Given the description of an element on the screen output the (x, y) to click on. 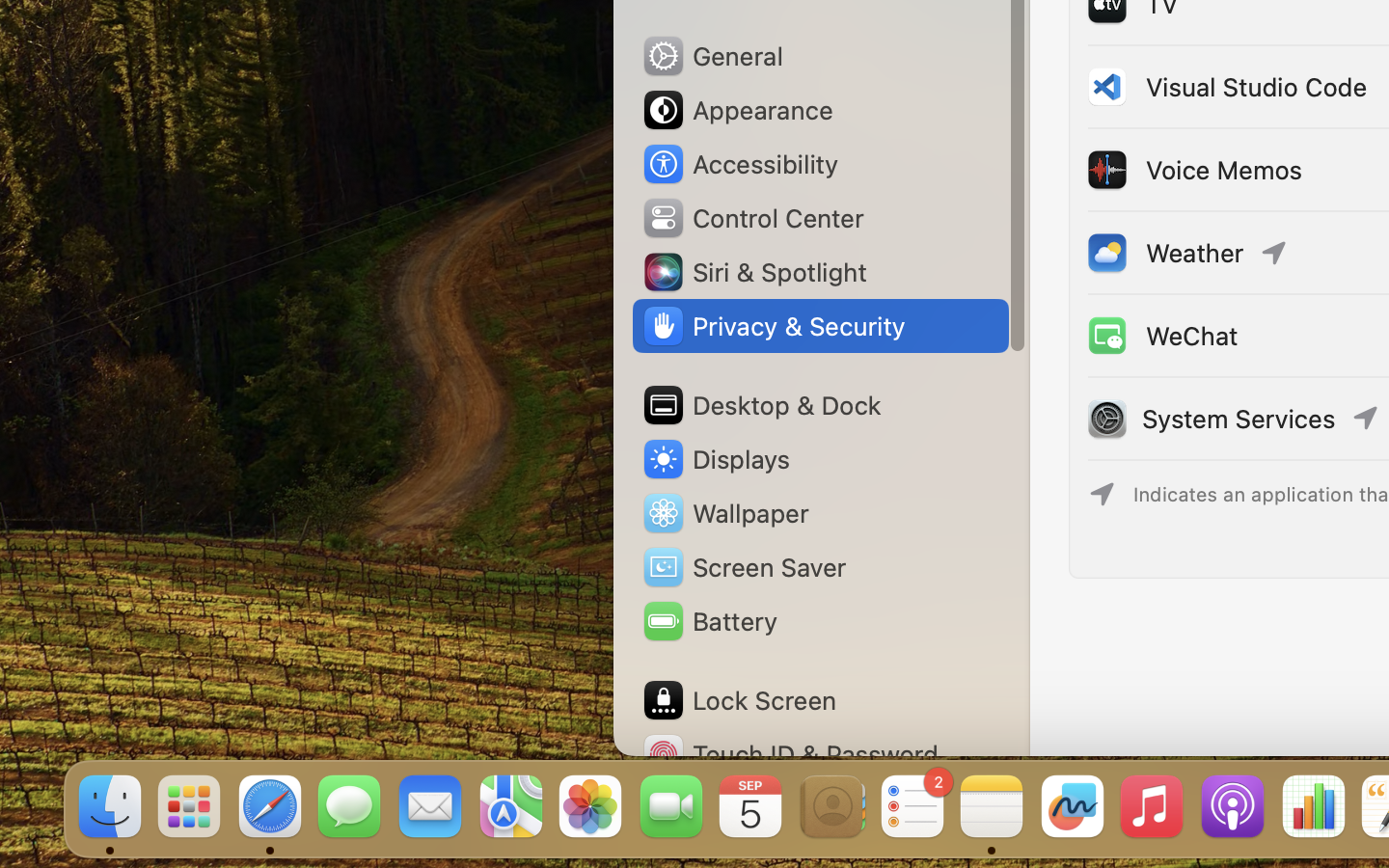
WeChat Element type: AXStaticText (1161, 335)
Appearance Element type: AXStaticText (736, 109)
Lock Screen Element type: AXStaticText (738, 700)
General Element type: AXStaticText (711, 55)
Accessibility Element type: AXStaticText (739, 163)
